Given the description of an element on the screen output the (x, y) to click on. 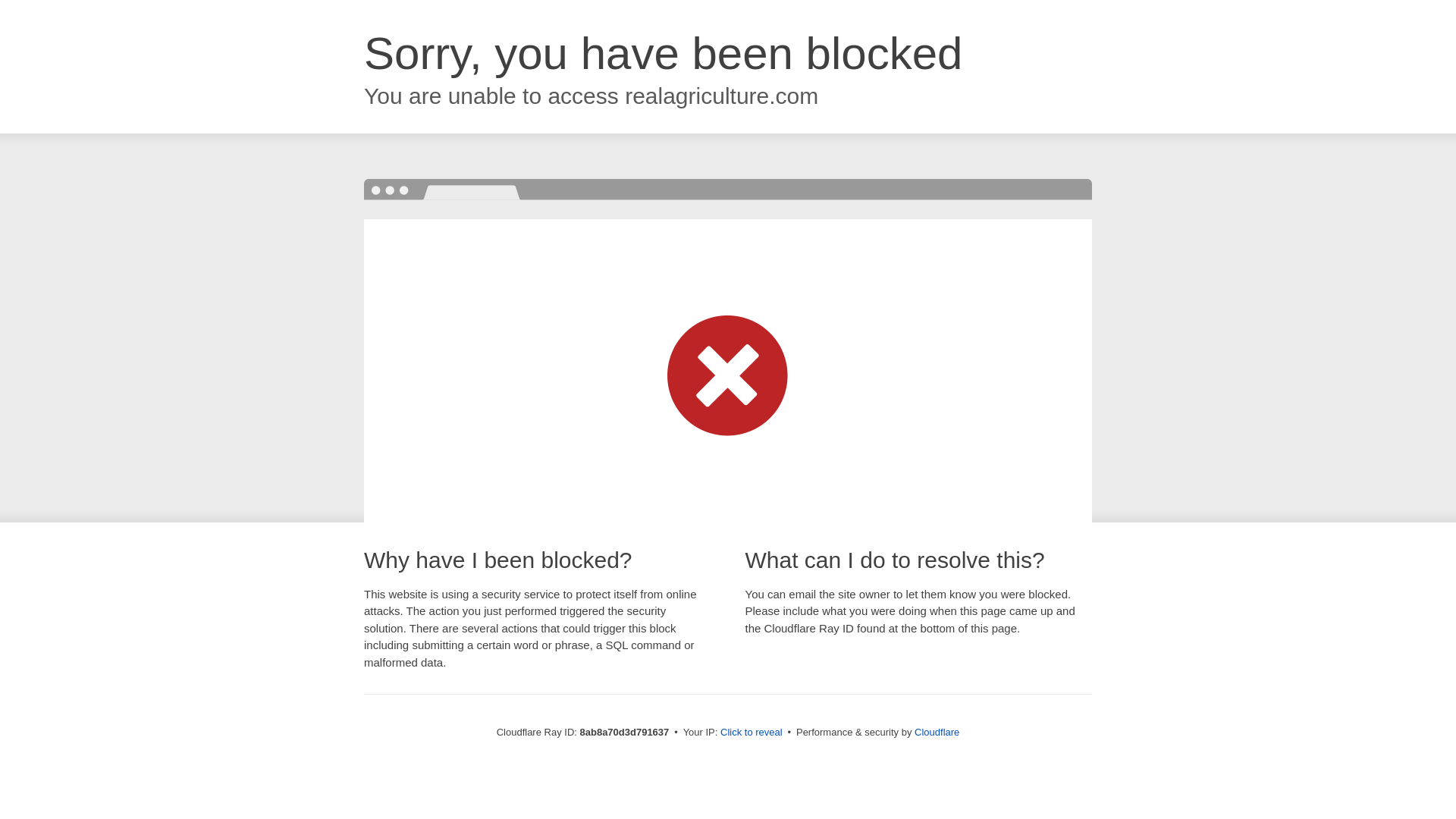
Click to reveal (751, 732)
Cloudflare (936, 731)
